Given the description of an element on the screen output the (x, y) to click on. 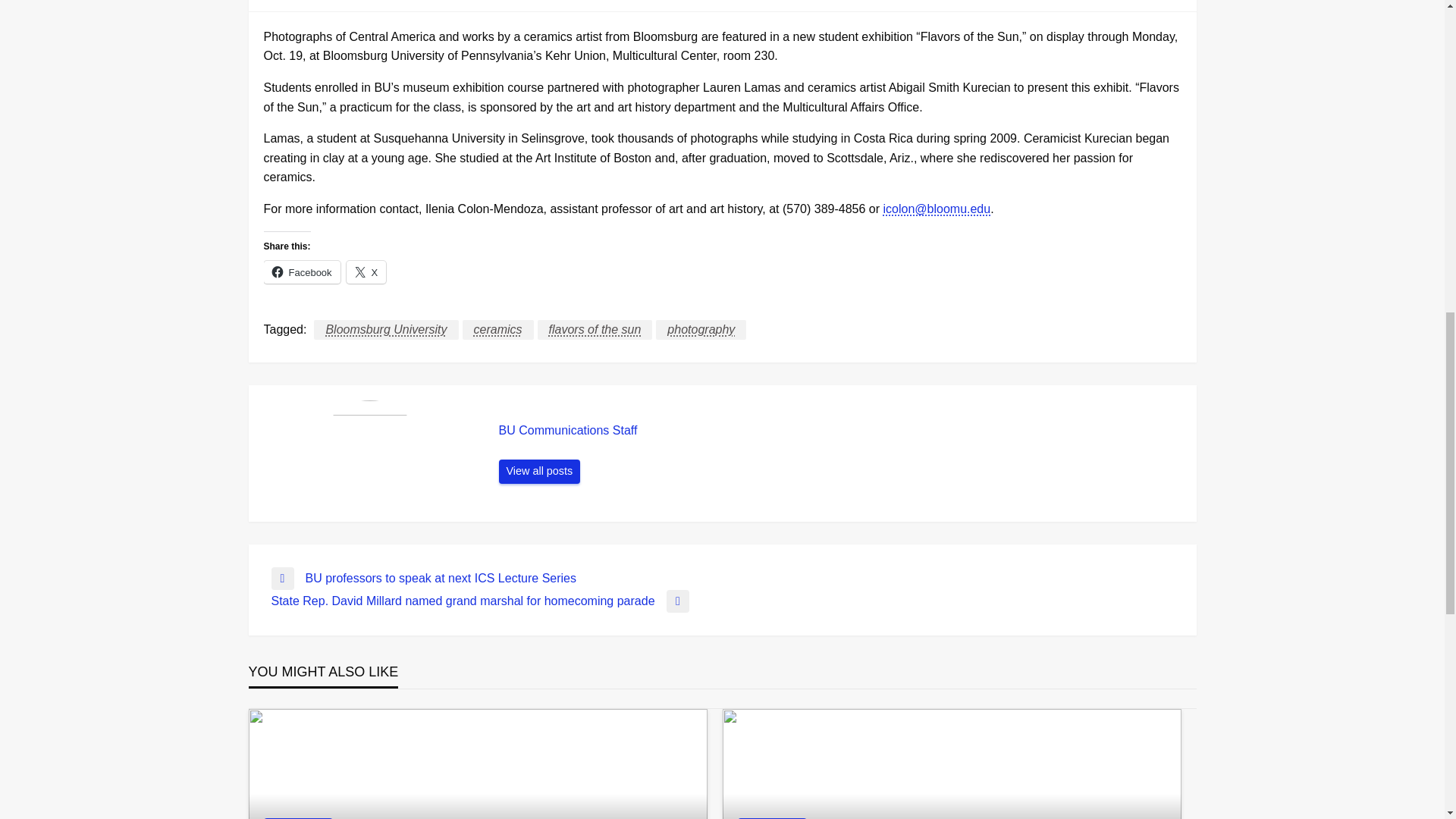
Click to share on Facebook (301, 272)
BU Communications Staff (539, 471)
Click to share on X (366, 272)
BU Communications Staff (839, 430)
